Given the description of an element on the screen output the (x, y) to click on. 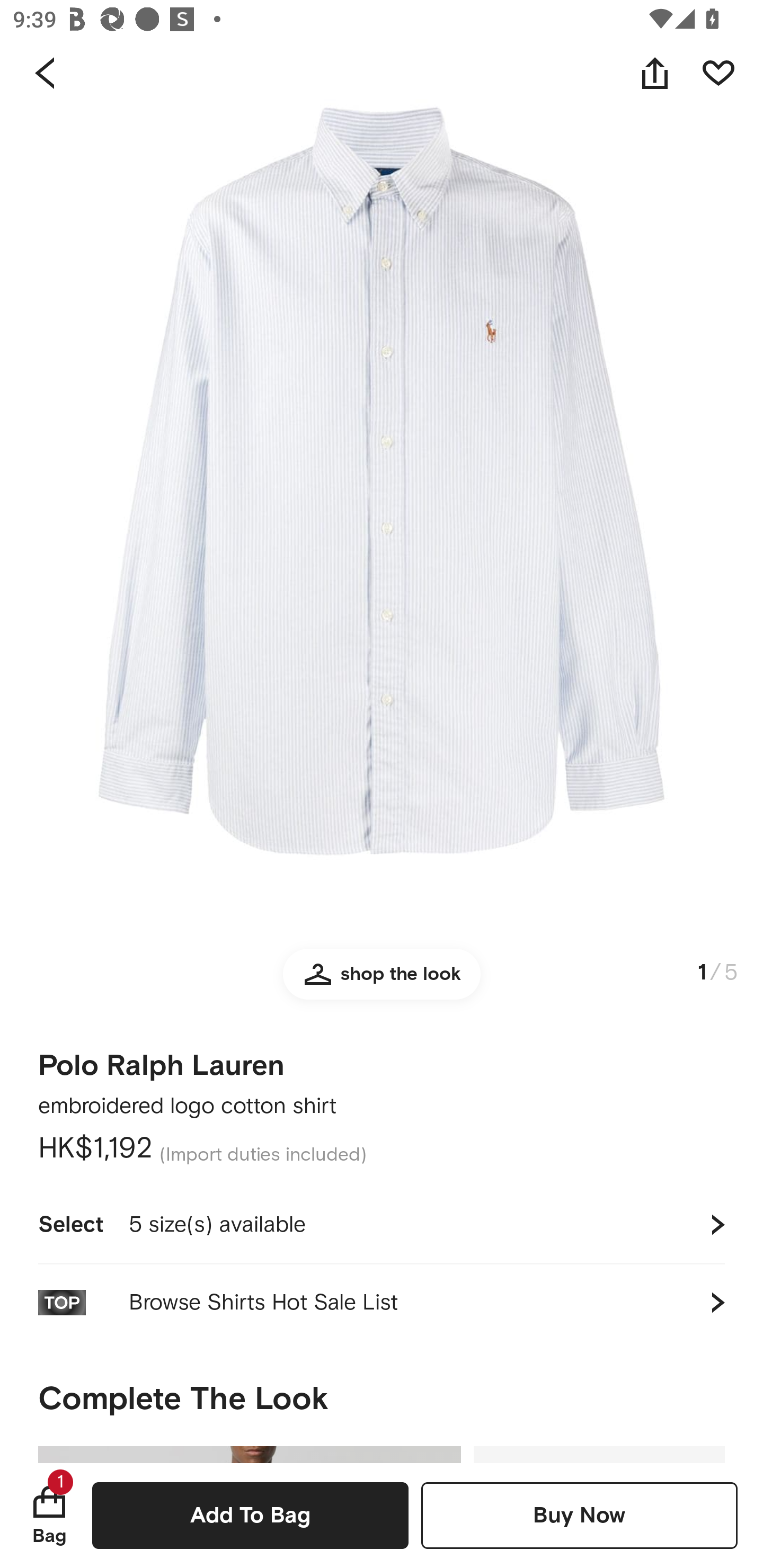
shop the look (381, 982)
Polo Ralph Lauren (161, 1059)
Select 5 size(s) available (381, 1224)
Browse Shirts Hot Sale List (381, 1301)
Bag 1 (49, 1515)
Add To Bag (250, 1515)
Buy Now (579, 1515)
